Given the description of an element on the screen output the (x, y) to click on. 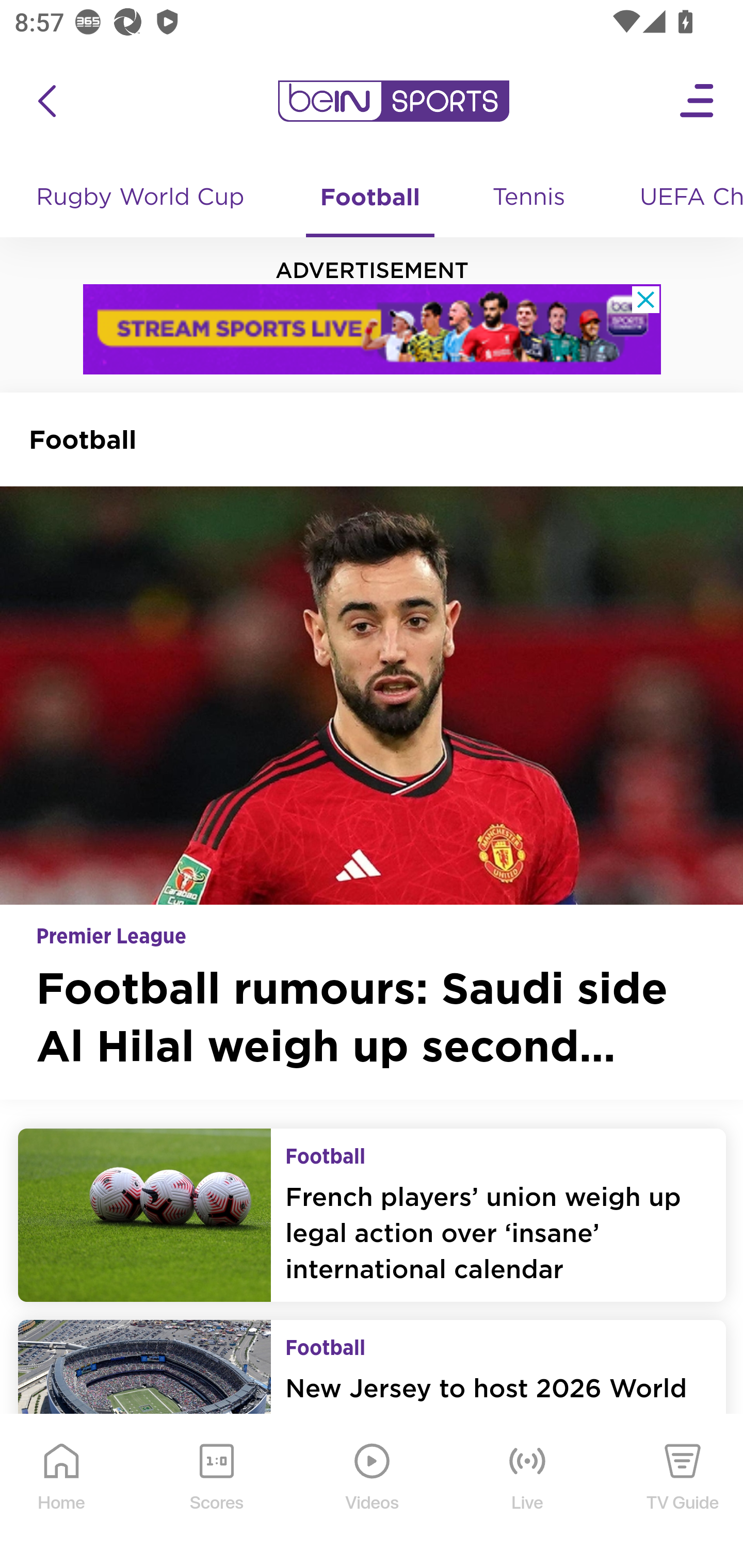
en-my?platform=mobile_android bein logo (392, 101)
icon back (46, 101)
Open Menu Icon (697, 101)
Rugby World Cup (142, 198)
Football (369, 198)
Tennis (530, 198)
UEFA Champions League (683, 198)
l8psv8uu (372, 328)
Home Home Icon Home (61, 1491)
Scores Scores Icon Scores (216, 1491)
Videos Videos Icon Videos (372, 1491)
TV Guide TV Guide Icon TV Guide (682, 1491)
